Given the description of an element on the screen output the (x, y) to click on. 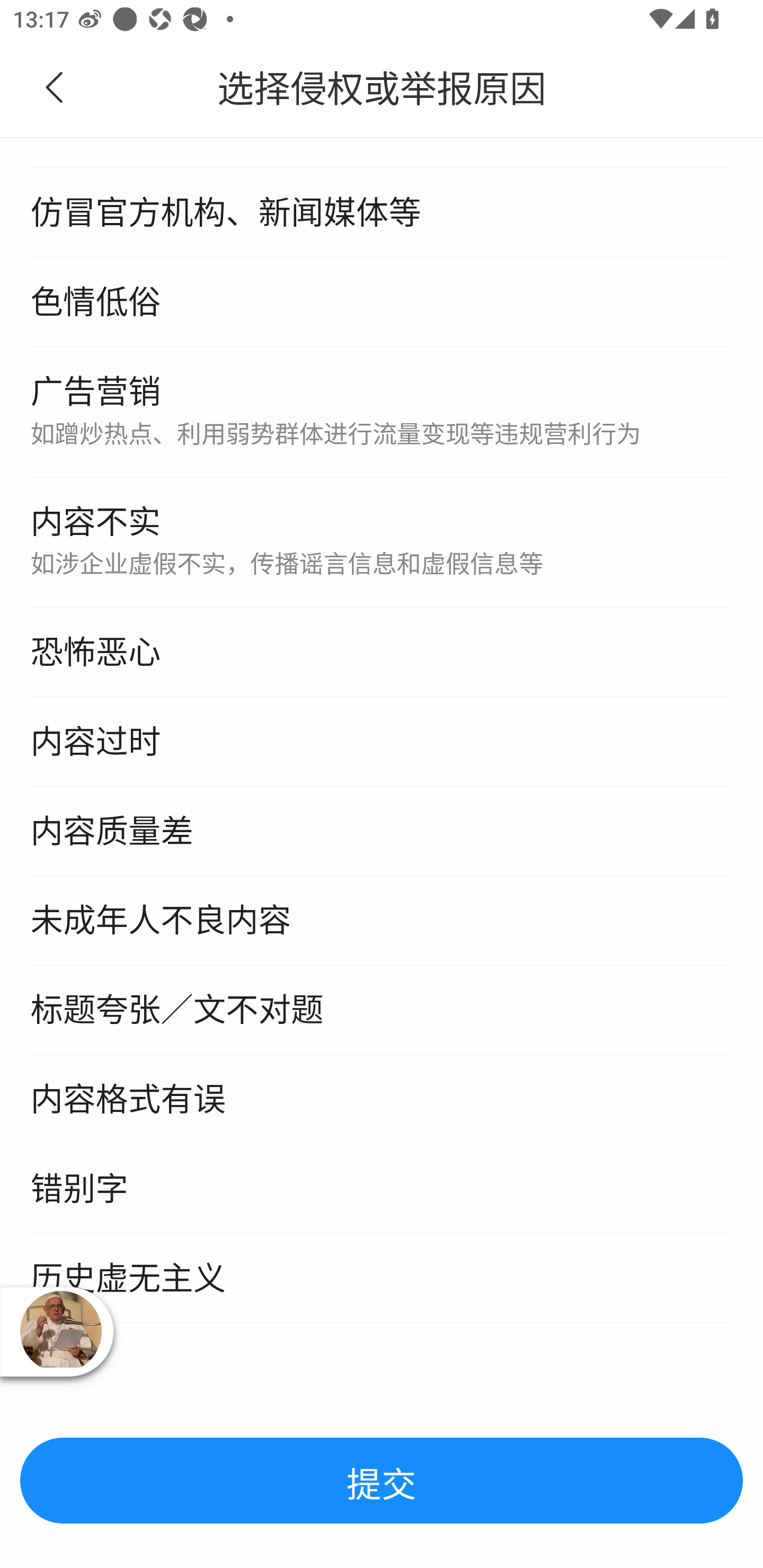
 返回 (54, 87)
选择侵权或举报原因 (381, 88)
仿冒官方机构、新闻媒体等 (381, 213)
色情低俗 (381, 303)
广告营销 如蹭炒热点、利用弱势群体进行流量变现等违规营利行为 (381, 413)
内容不实 如涉企业虚假不实，传播谣言信息和虚假信息等 (381, 543)
恐怖恶心 (381, 653)
内容过时 (381, 742)
内容质量差 (381, 831)
未成年人不良内容 (381, 921)
标题夸张／文不对题 (381, 1010)
内容格式有误 (381, 1100)
错别字 (381, 1189)
历史虚无主义 (381, 1279)
播放器 (60, 1331)
提交 (381, 1481)
